Given the description of an element on the screen output the (x, y) to click on. 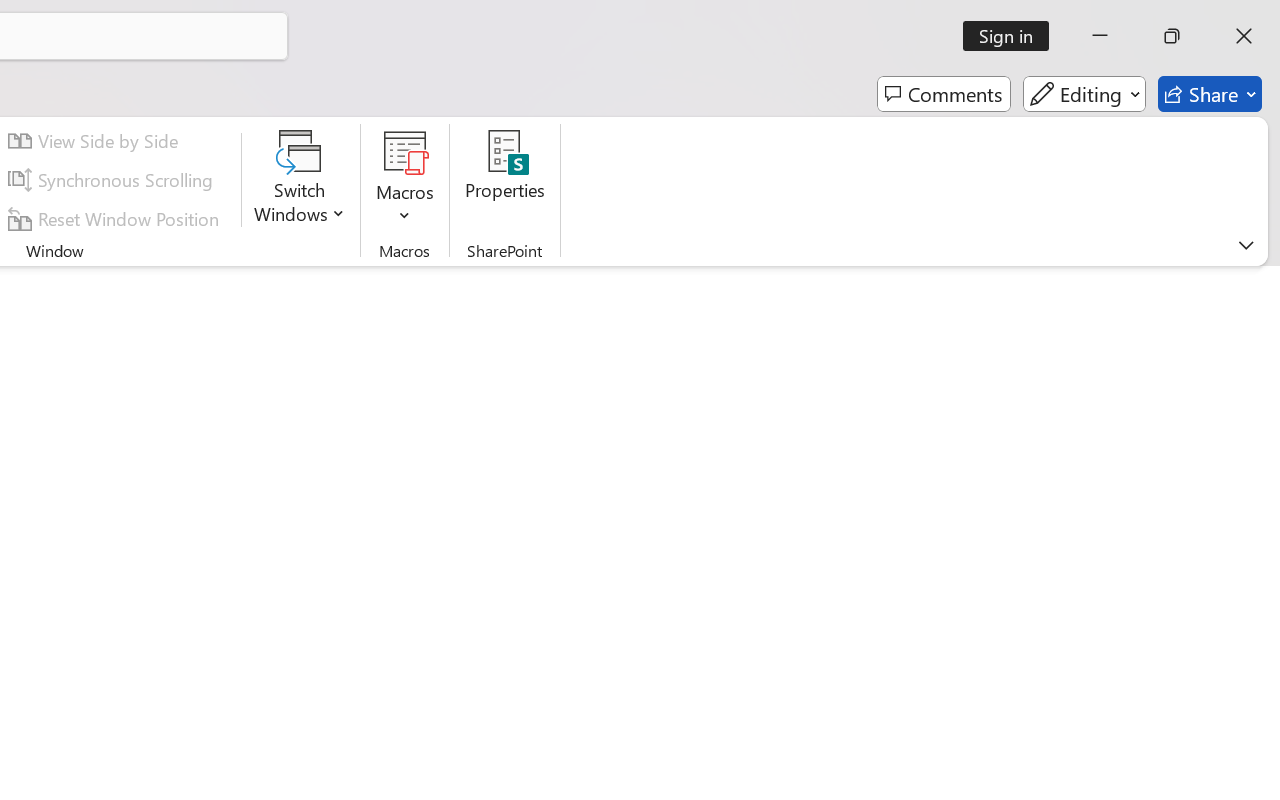
Macros (404, 179)
Reset Window Position (116, 218)
Synchronous Scrolling (114, 179)
Switch Windows (299, 179)
View Macros (404, 151)
Properties (505, 179)
